Given the description of an element on the screen output the (x, y) to click on. 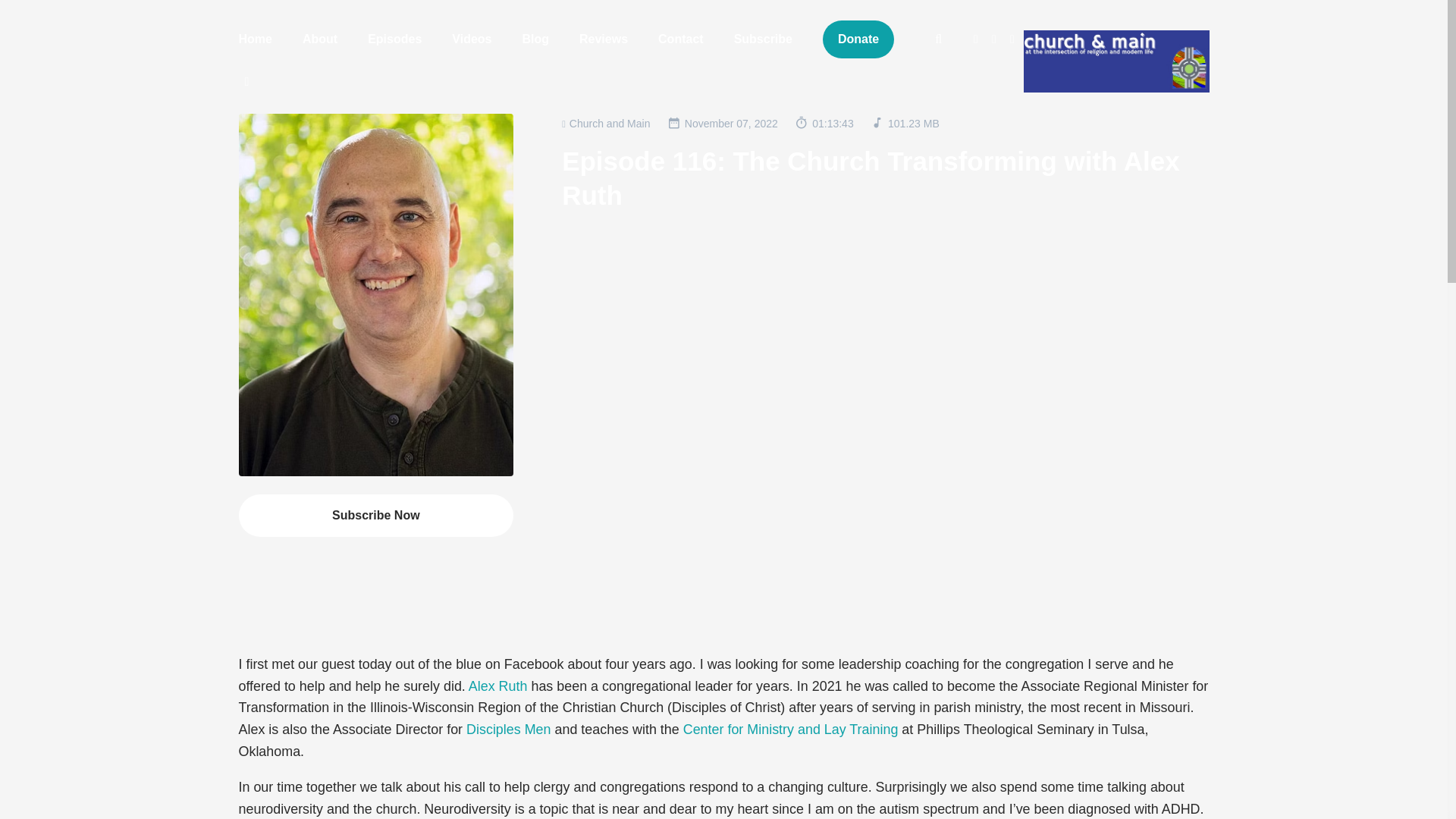
Episode Weight (904, 122)
Episode Duration (823, 122)
Donate (857, 39)
Reviews (603, 39)
About (319, 39)
Podcast (605, 123)
Disciples Men (507, 729)
Subscribe Now (375, 515)
Contact (681, 39)
Videos (471, 39)
